Given the description of an element on the screen output the (x, y) to click on. 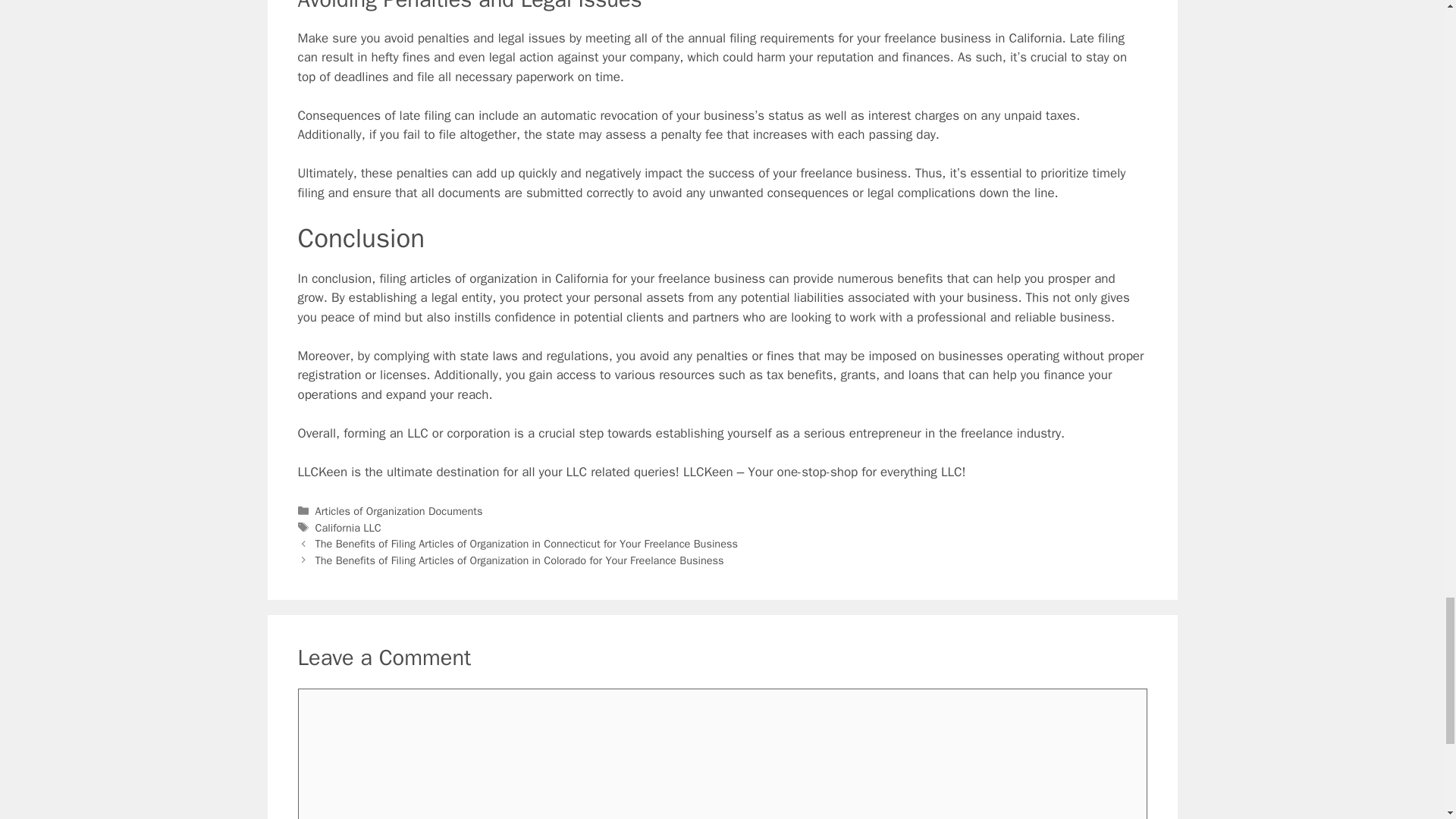
LLCKeen (322, 471)
The Definitive Guide to Setting Up an LLC in 2023 (417, 433)
LLCKeen (322, 471)
California LLC (348, 527)
LLC (417, 433)
Articles of Organization Documents (399, 510)
